Given the description of an element on the screen output the (x, y) to click on. 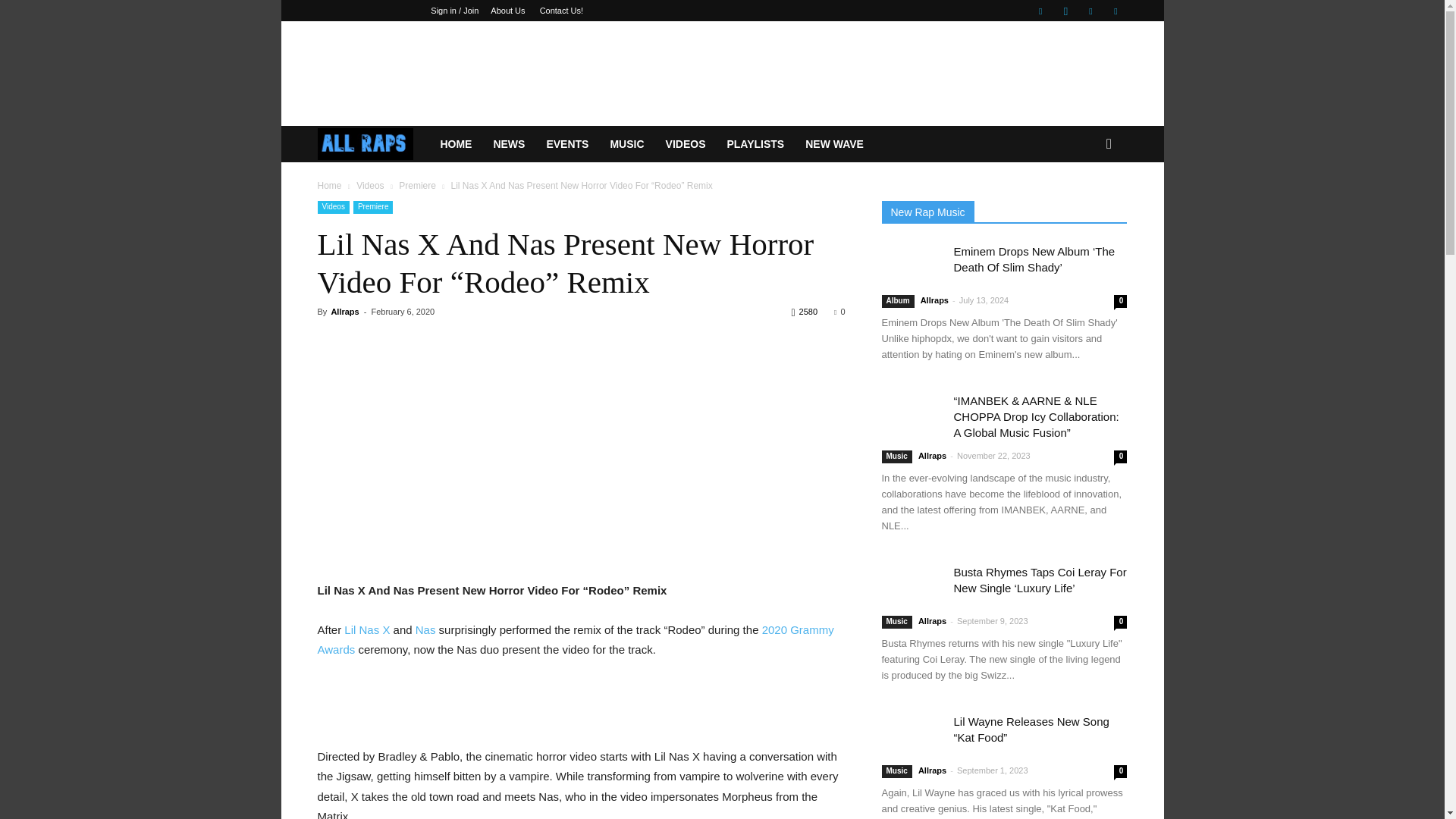
Instagram (1065, 10)
About Us (507, 10)
Hip-Hop And Rap News, New Music, New Videos And More... (365, 144)
Twitter (1114, 10)
Contact Us! (561, 10)
All Raps (373, 143)
HOME (455, 144)
Facebook (1040, 10)
Spotify (1090, 10)
